Given the description of an element on the screen output the (x, y) to click on. 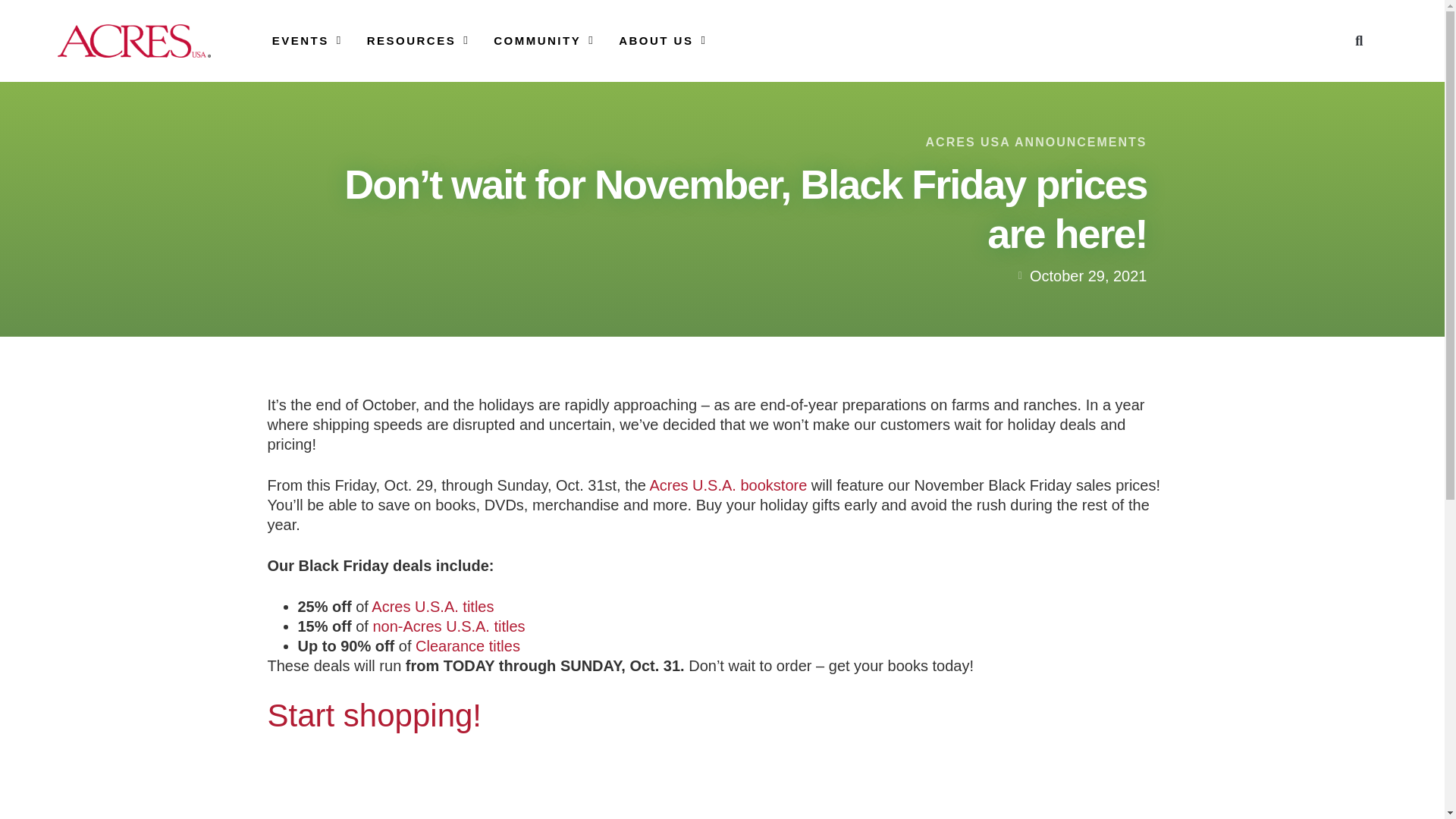
RESOURCES (418, 40)
EVENTS (307, 40)
COMMUNITY (543, 40)
ABOUT US (662, 40)
